Given the description of an element on the screen output the (x, y) to click on. 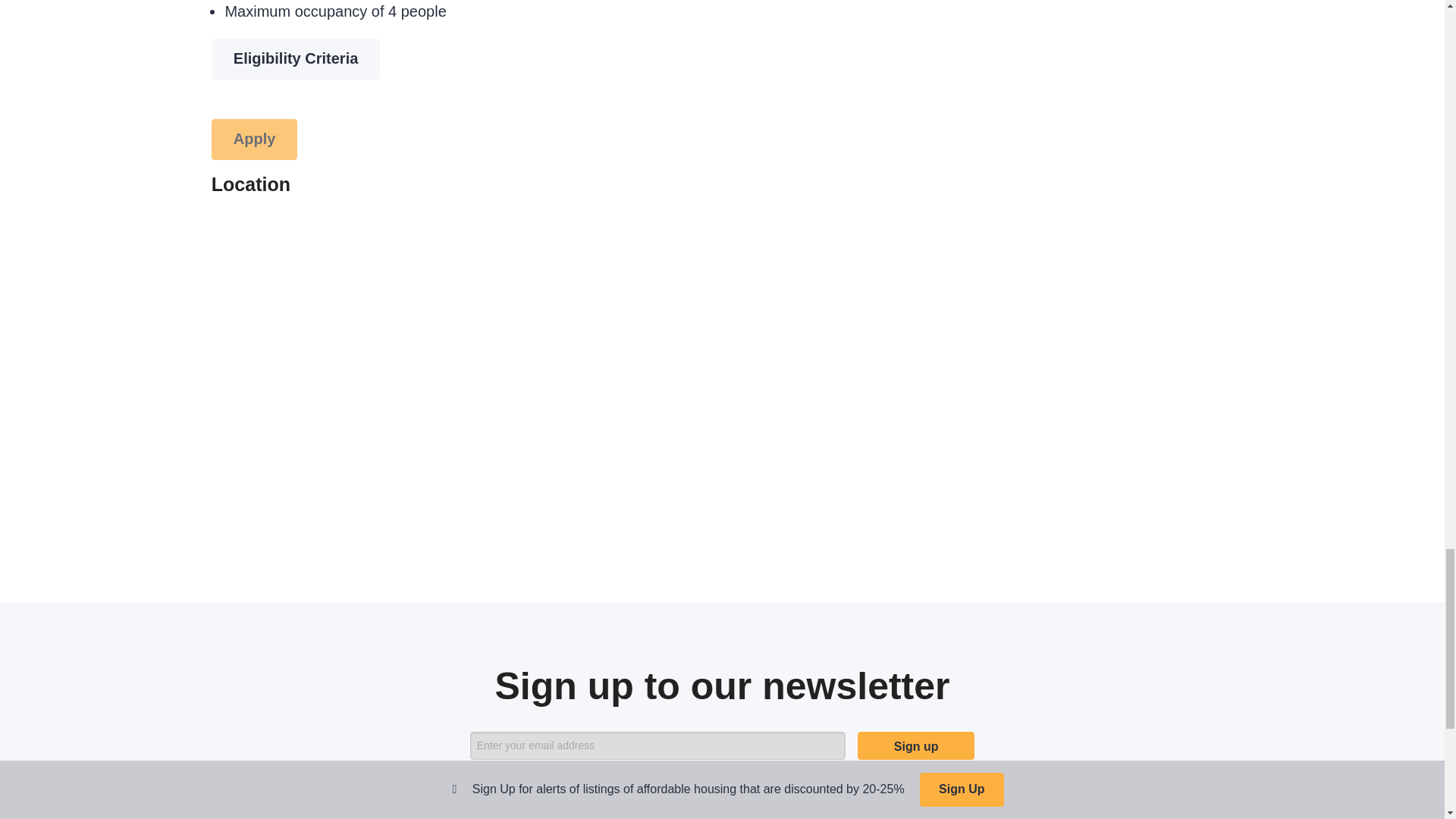
Eligibility Criteria (295, 58)
AHP Cannot lodge Application (254, 138)
